Given the description of an element on the screen output the (x, y) to click on. 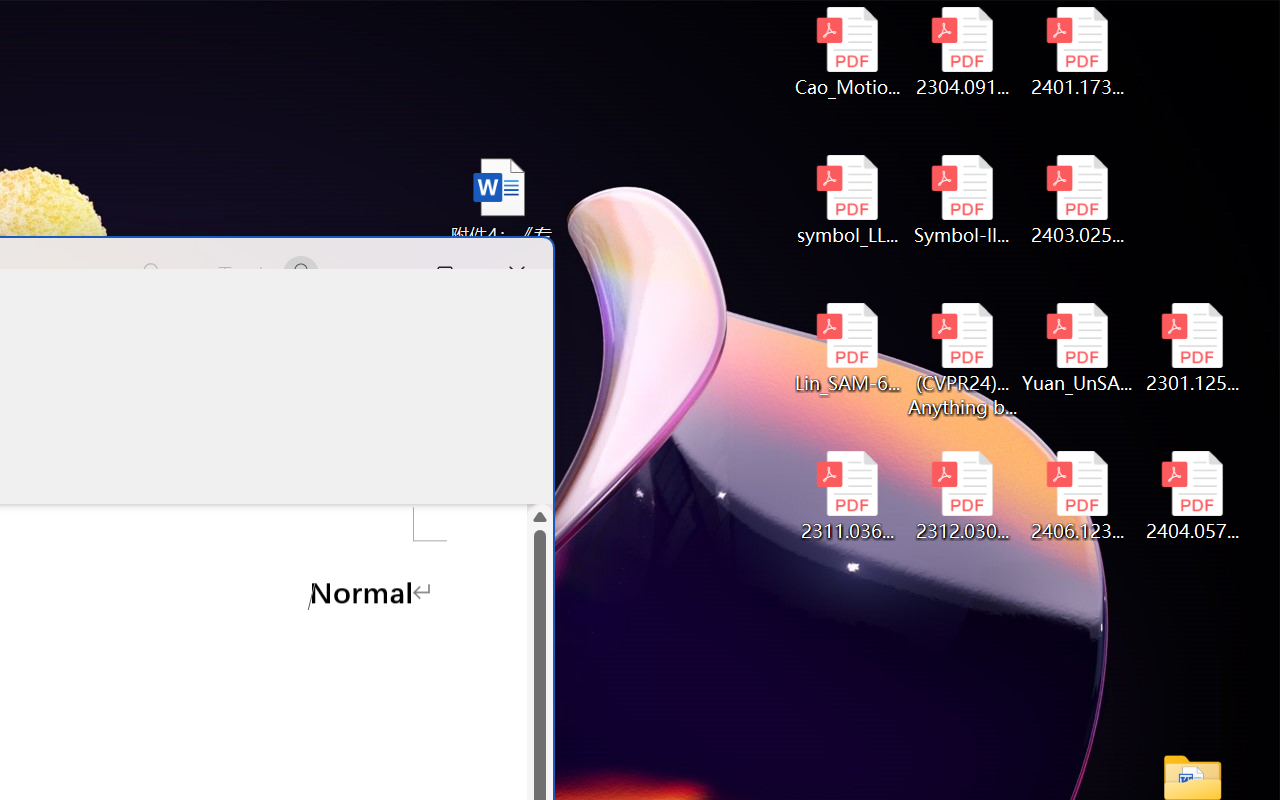
Ink to Math (378, 417)
